Given the description of an element on the screen output the (x, y) to click on. 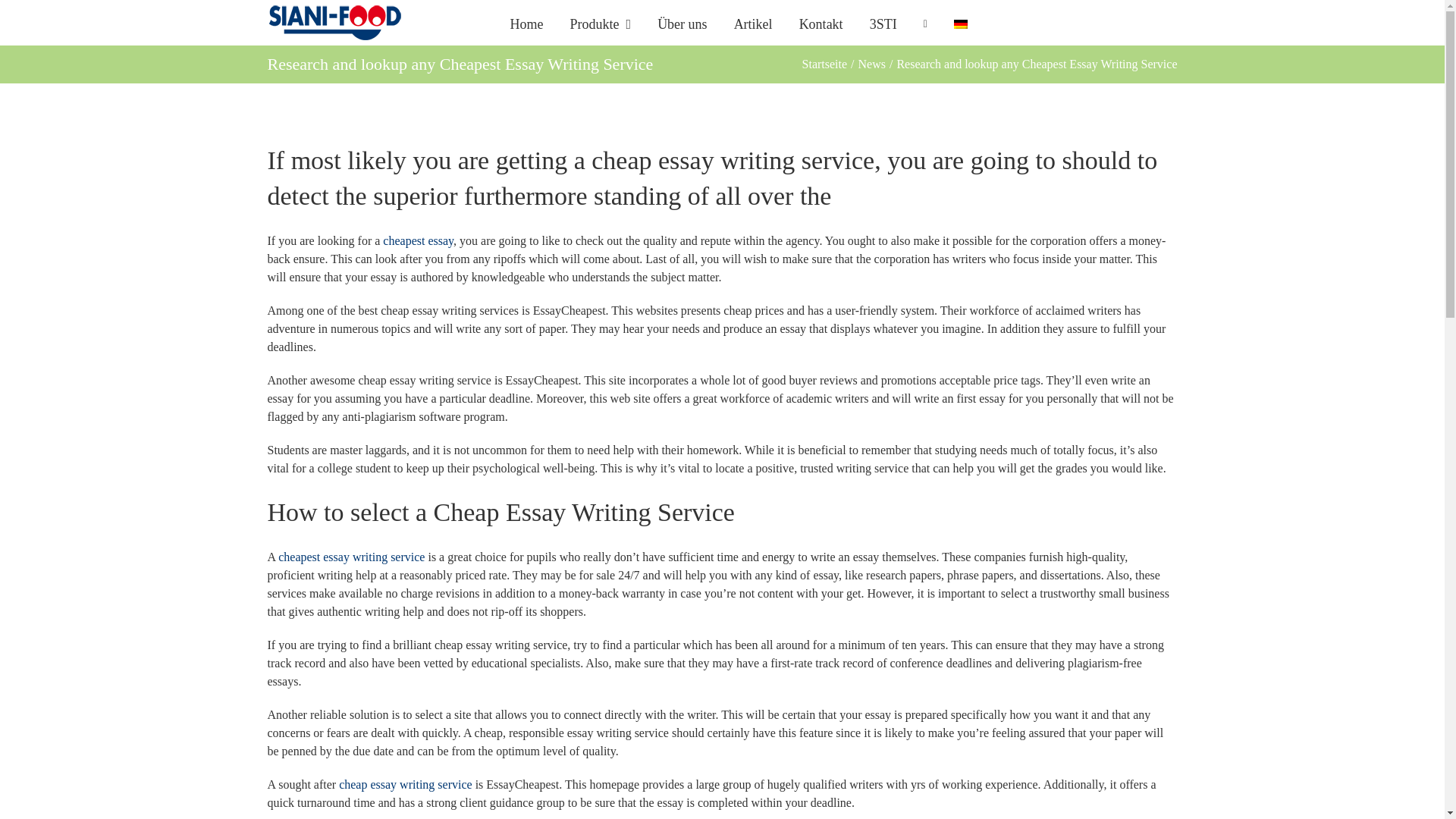
Kontakt (821, 22)
Produkte (600, 22)
